Given the description of an element on the screen output the (x, y) to click on. 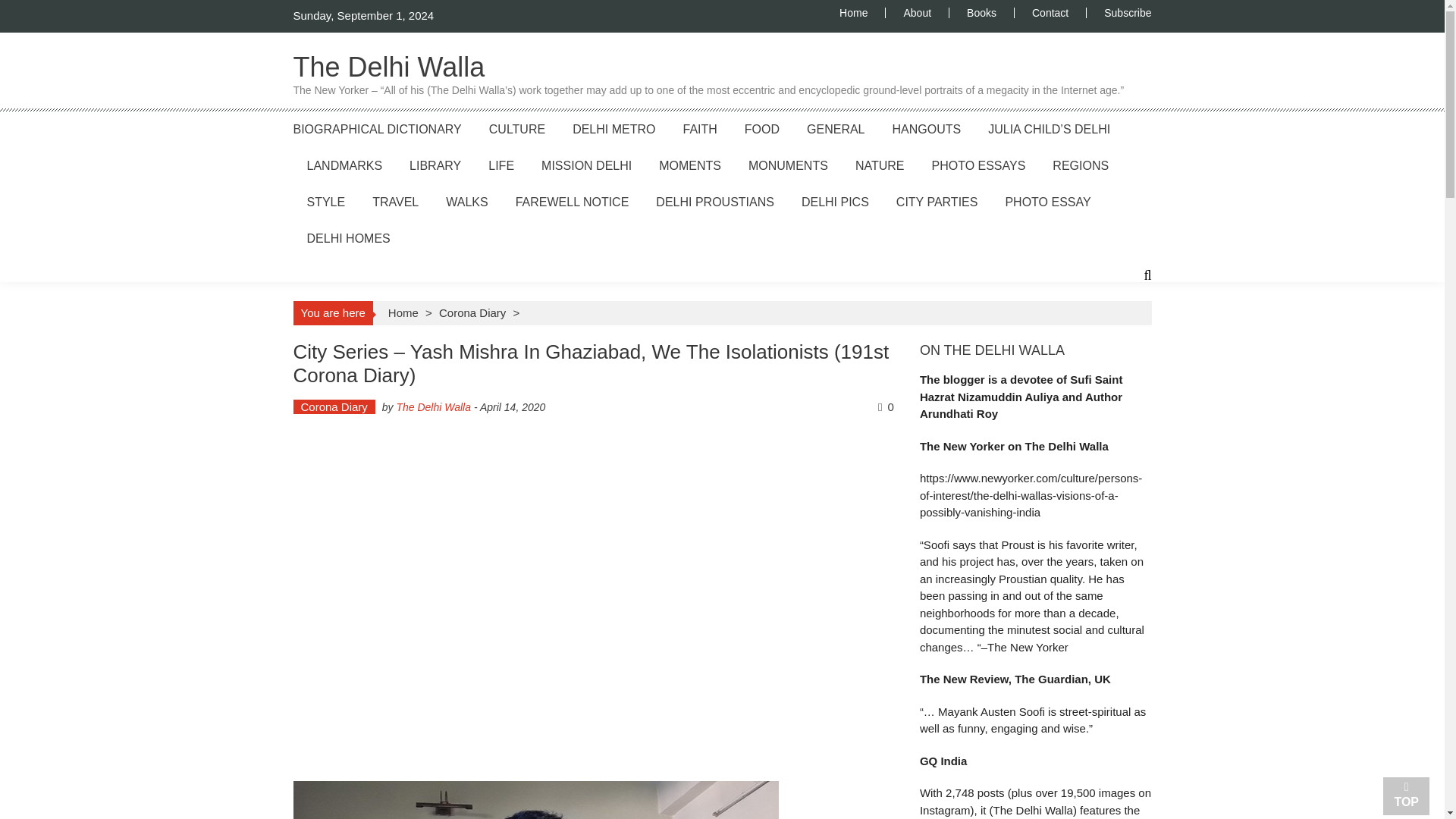
LIBRARY (435, 164)
CITY PARTIES (937, 201)
REGIONS (1080, 164)
Contact (1049, 12)
TRAVEL (395, 201)
MISSION DELHI (586, 164)
Home (862, 12)
BIOGRAPHICAL DICTIONARY (376, 128)
FOOD (761, 128)
About (917, 12)
